Given the description of an element on the screen output the (x, y) to click on. 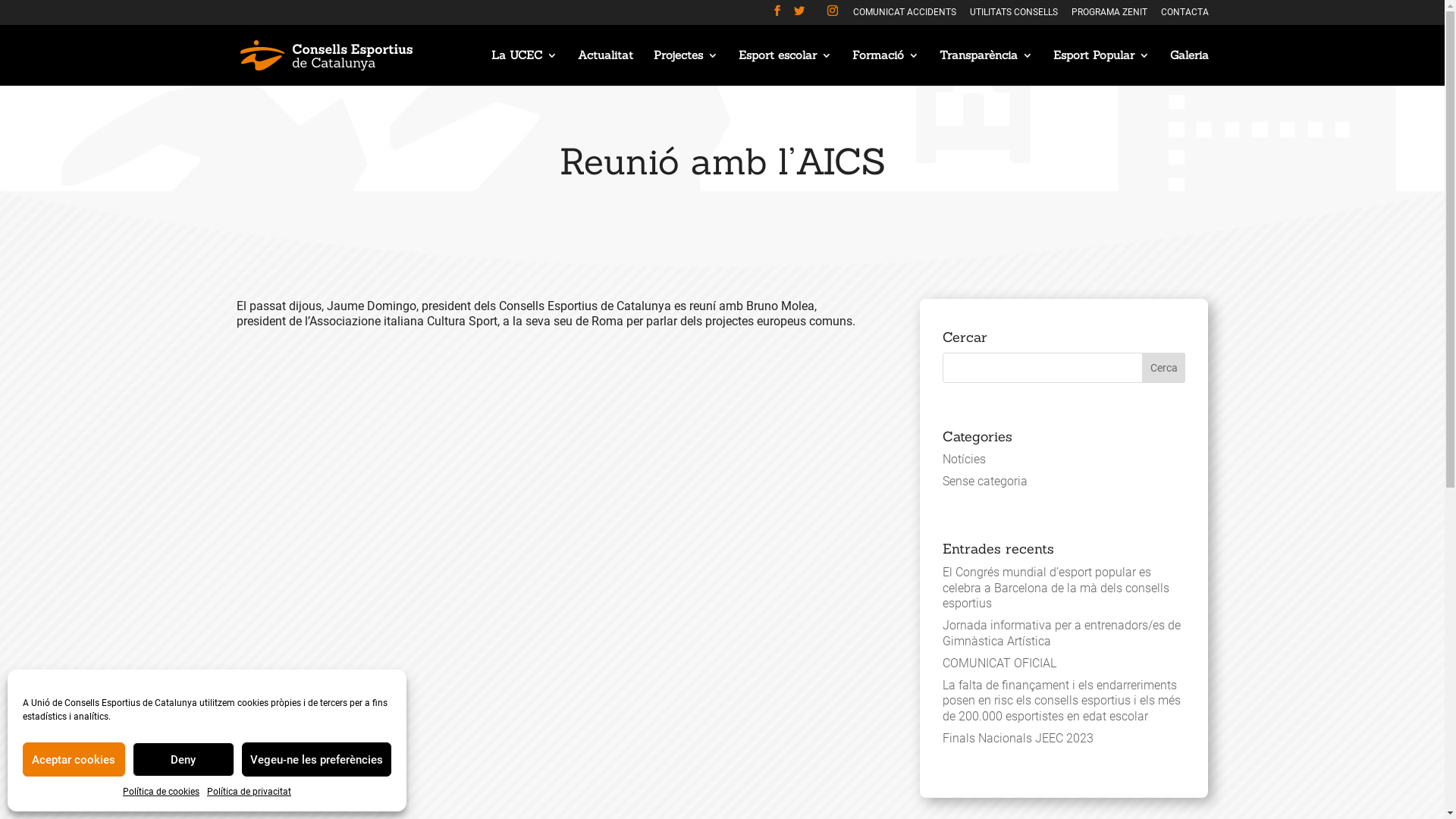
Galeria Element type: text (1188, 67)
Cerca Element type: text (1164, 367)
Projectes Element type: text (685, 67)
Aceptar cookies Element type: text (73, 759)
COMUNICAT ACCIDENTS Element type: text (903, 15)
UTILITATS CONSELLS Element type: text (1013, 15)
Sense categoria Element type: text (984, 480)
La UCEC Element type: text (524, 67)
Esport Popular Element type: text (1100, 67)
Deny Element type: text (182, 759)
Finals Nacionals JEEC 2023 Element type: text (1017, 738)
Actualitat Element type: text (605, 67)
COMUNICAT OFICIAL Element type: text (999, 662)
PROGRAMA ZENIT Element type: text (1108, 15)
Esport escolar Element type: text (784, 67)
CONTACTA Element type: text (1184, 15)
